Given the description of an element on the screen output the (x, y) to click on. 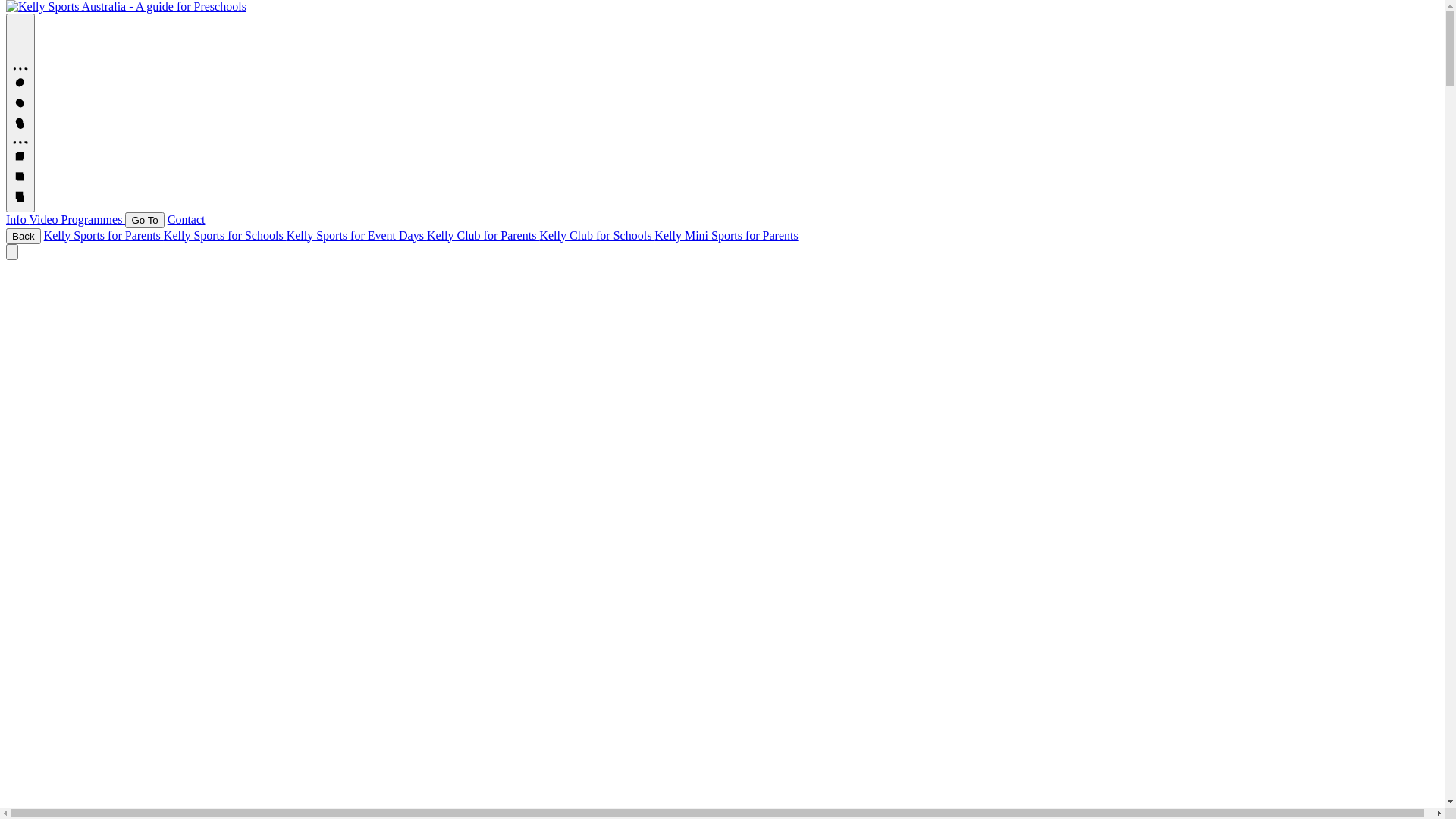
Go To Element type: text (144, 220)
Kelly Club for Parents Element type: text (482, 235)
Contact Element type: text (186, 219)
Video Element type: text (44, 219)
Info Element type: text (17, 219)
Kelly Sports for Parents Element type: text (103, 235)
Kelly Mini Sports for Parents Element type: text (725, 235)
Kelly Club for Schools Element type: text (596, 235)
Kelly Sports for Schools Element type: text (224, 235)
Kelly Sports for Event Days Element type: text (356, 235)
Programmes Element type: text (93, 219)
Back Element type: text (23, 236)
